Given the description of an element on the screen output the (x, y) to click on. 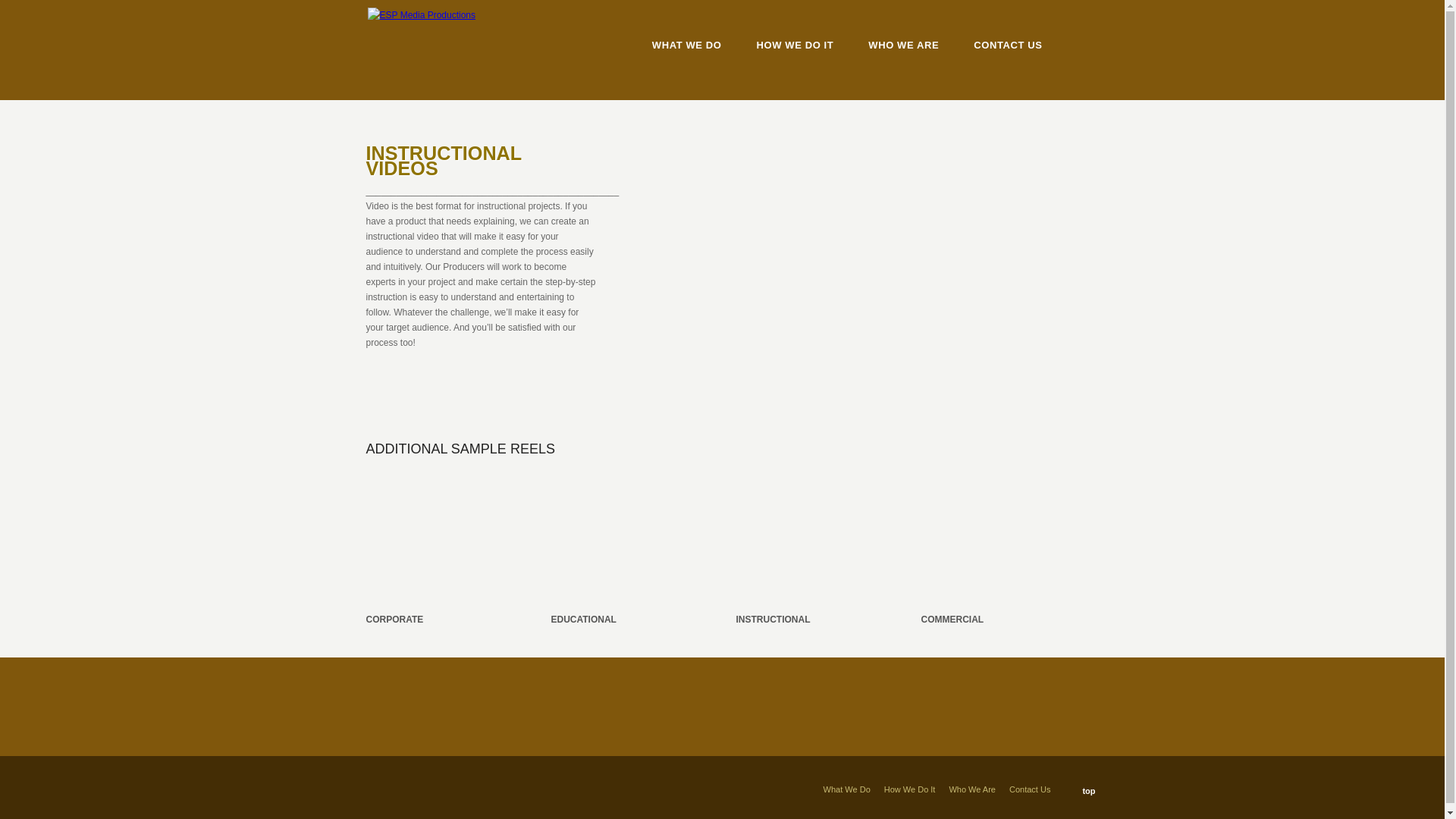
top (1081, 789)
Contact Us (1029, 788)
CONTACT US (1008, 45)
What We Do (847, 788)
WHO WE ARE (903, 45)
Who We Are (972, 788)
WHAT WE DO (687, 45)
How We Do It (909, 788)
HOW WE DO IT (795, 45)
